Given the description of an element on the screen output the (x, y) to click on. 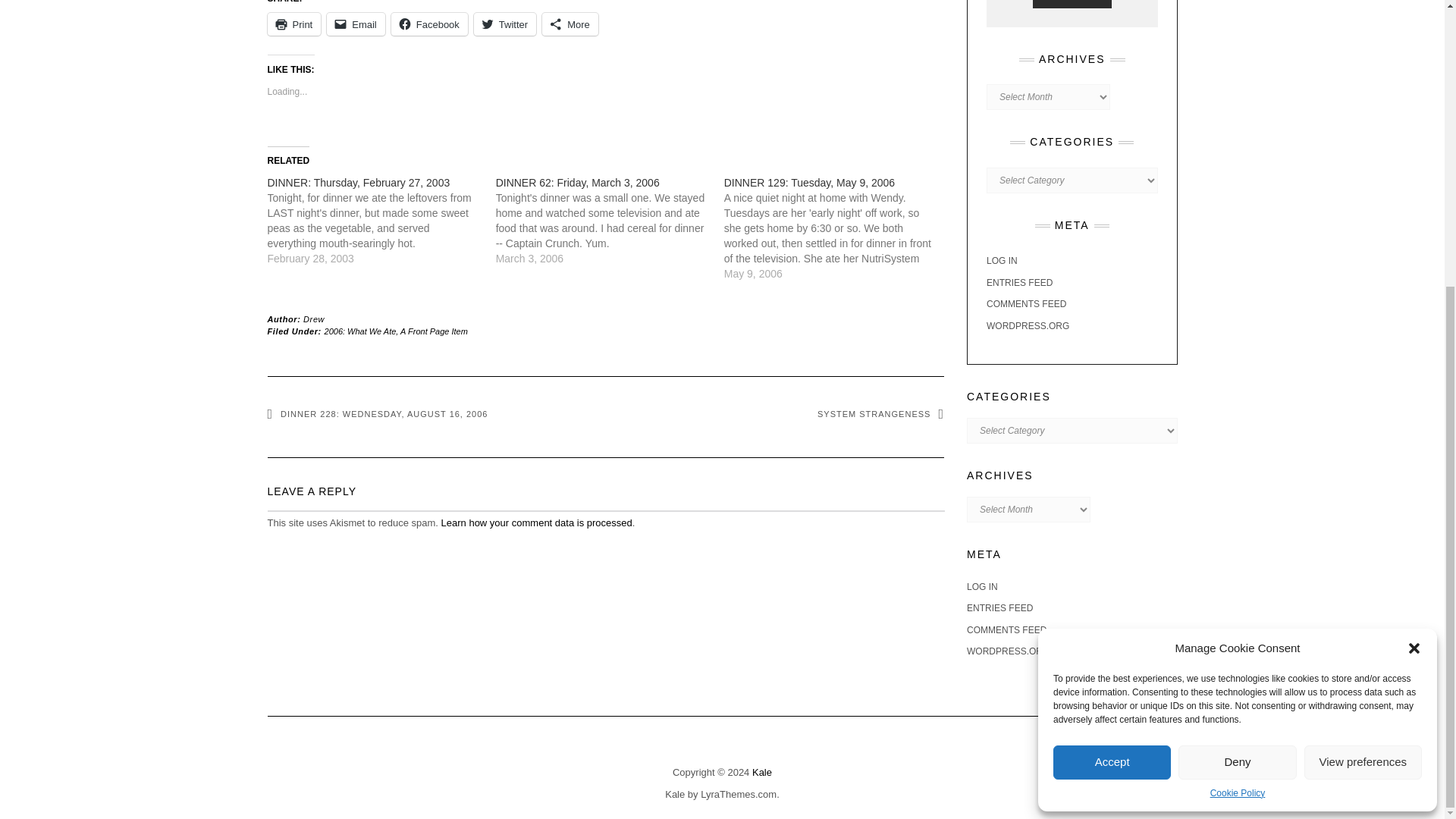
Deny (1236, 329)
Accept (1111, 329)
Posts by Drew (313, 318)
DINNER 62: Friday, March 3, 2006 (577, 182)
Print (293, 24)
DINNER 129: Tuesday, May 9, 2006 (837, 228)
DINNER: Thursday, February 27, 2003 (357, 182)
Facebook (429, 24)
Cookie Policy (1237, 360)
DINNER: Thursday, February 27, 2003 (357, 182)
DINNER: Thursday, February 27, 2003 (380, 220)
Click to print (293, 24)
Twitter (504, 24)
DINNER 62: Friday, March 3, 2006 (577, 182)
Email (355, 24)
